Given the description of an element on the screen output the (x, y) to click on. 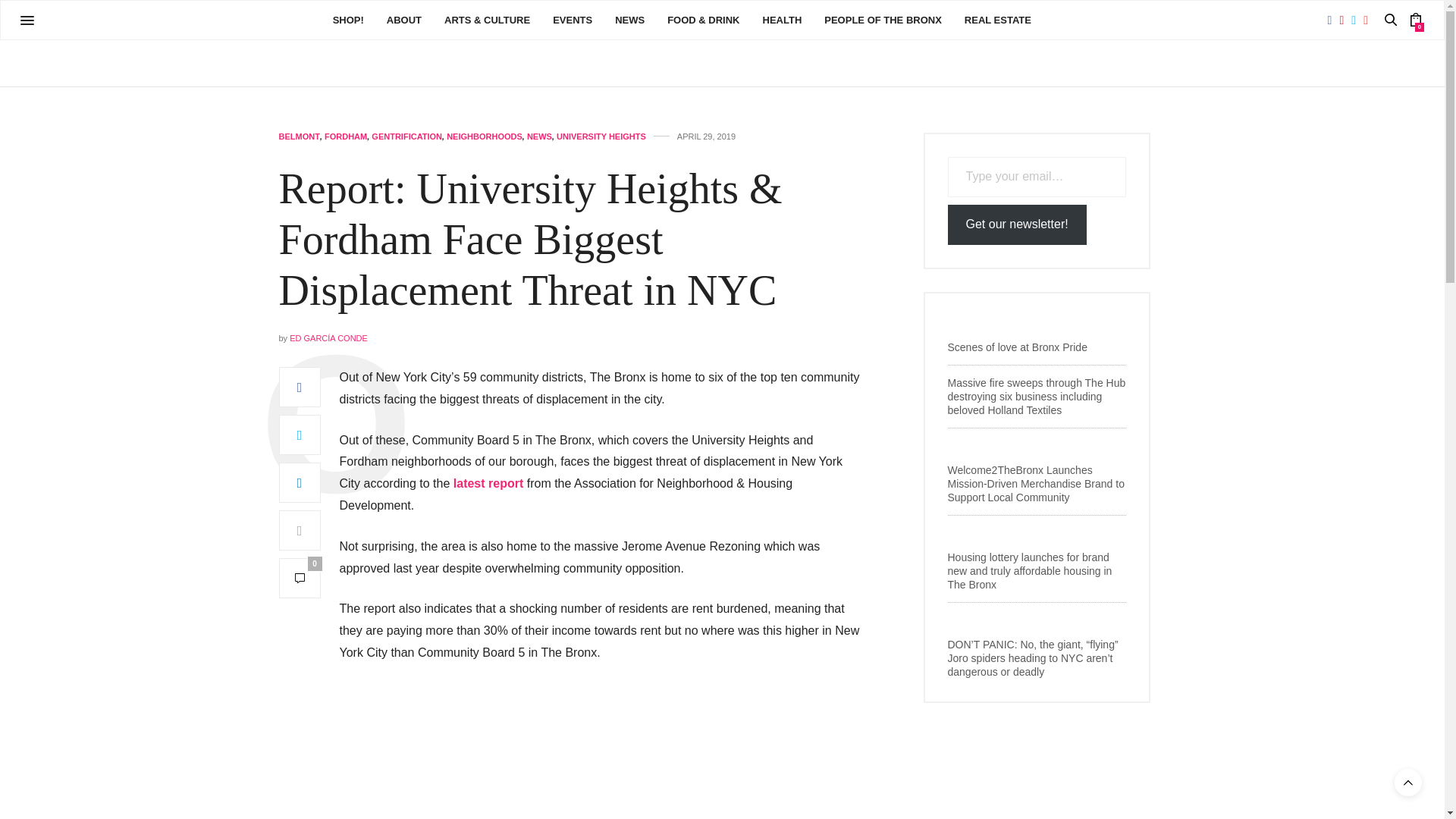
FORDHAM (345, 136)
Please fill in this field. (1036, 177)
UNIVERSITY HEIGHTS (601, 136)
NEIGHBORHOODS (484, 136)
NEWS (539, 136)
ABOUT (404, 19)
REAL ESTATE (996, 19)
PEOPLE OF THE BRONX (883, 19)
GENTRIFICATION (406, 136)
EVENTS (572, 19)
HEALTH (782, 19)
BELMONT (299, 136)
Scroll To Top (1408, 782)
